Given the description of an element on the screen output the (x, y) to click on. 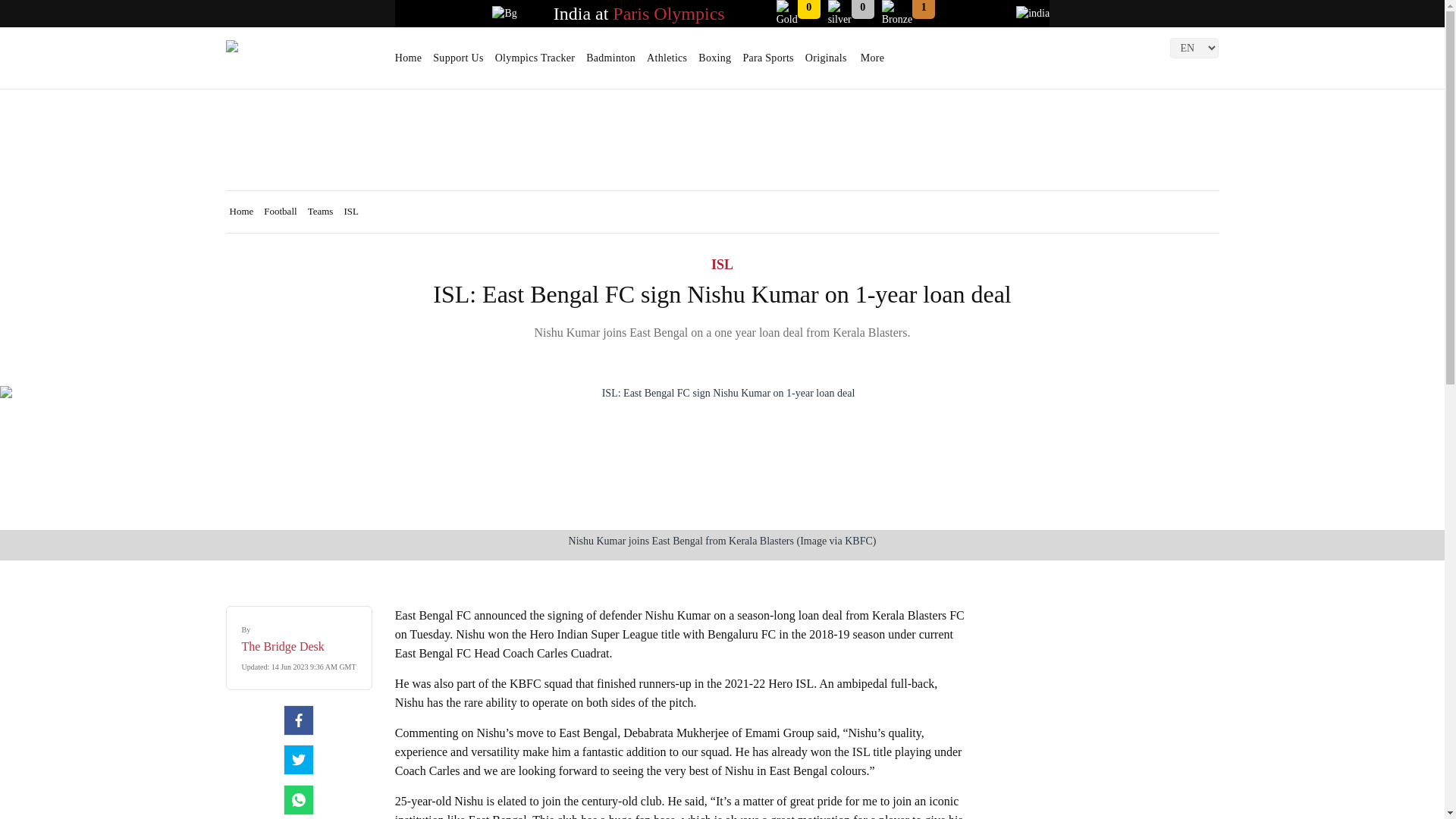
Badminton (610, 63)
Olympics Tracker (535, 63)
Para Sports (767, 63)
Paris Olympics (667, 13)
Support Us (457, 63)
